Given the description of an element on the screen output the (x, y) to click on. 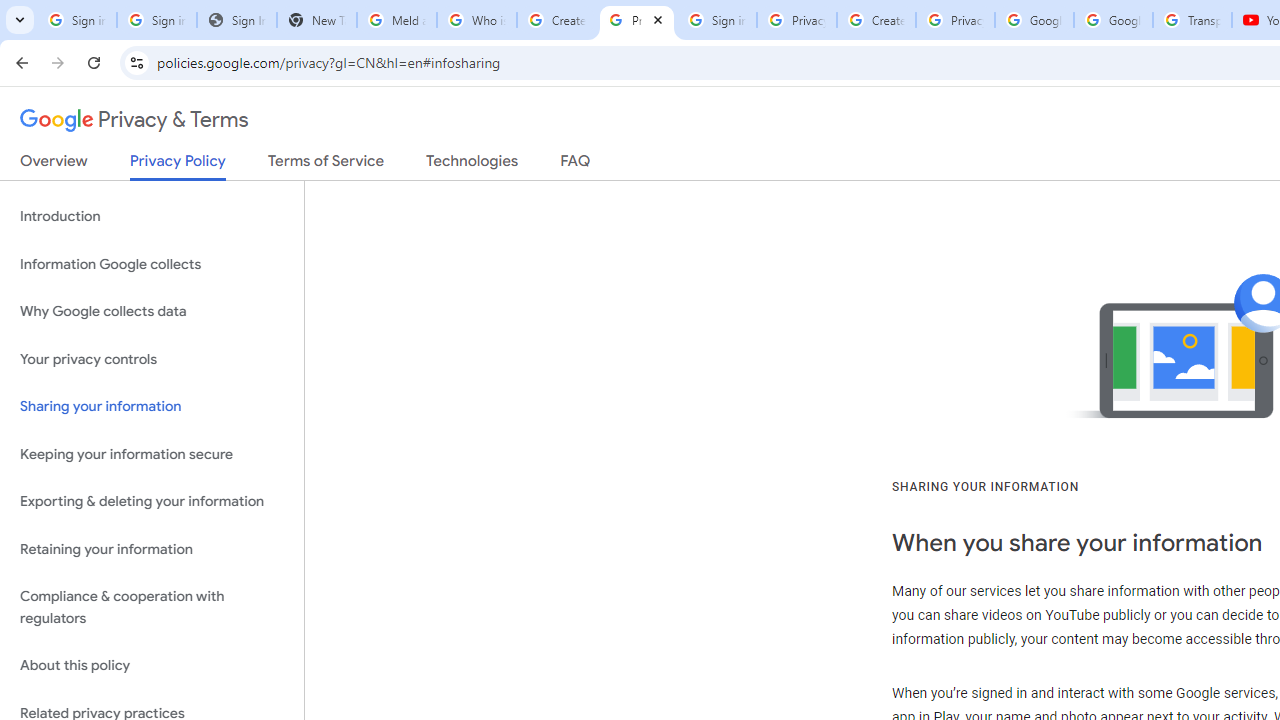
Information Google collects (152, 263)
